Given the description of an element on the screen output the (x, y) to click on. 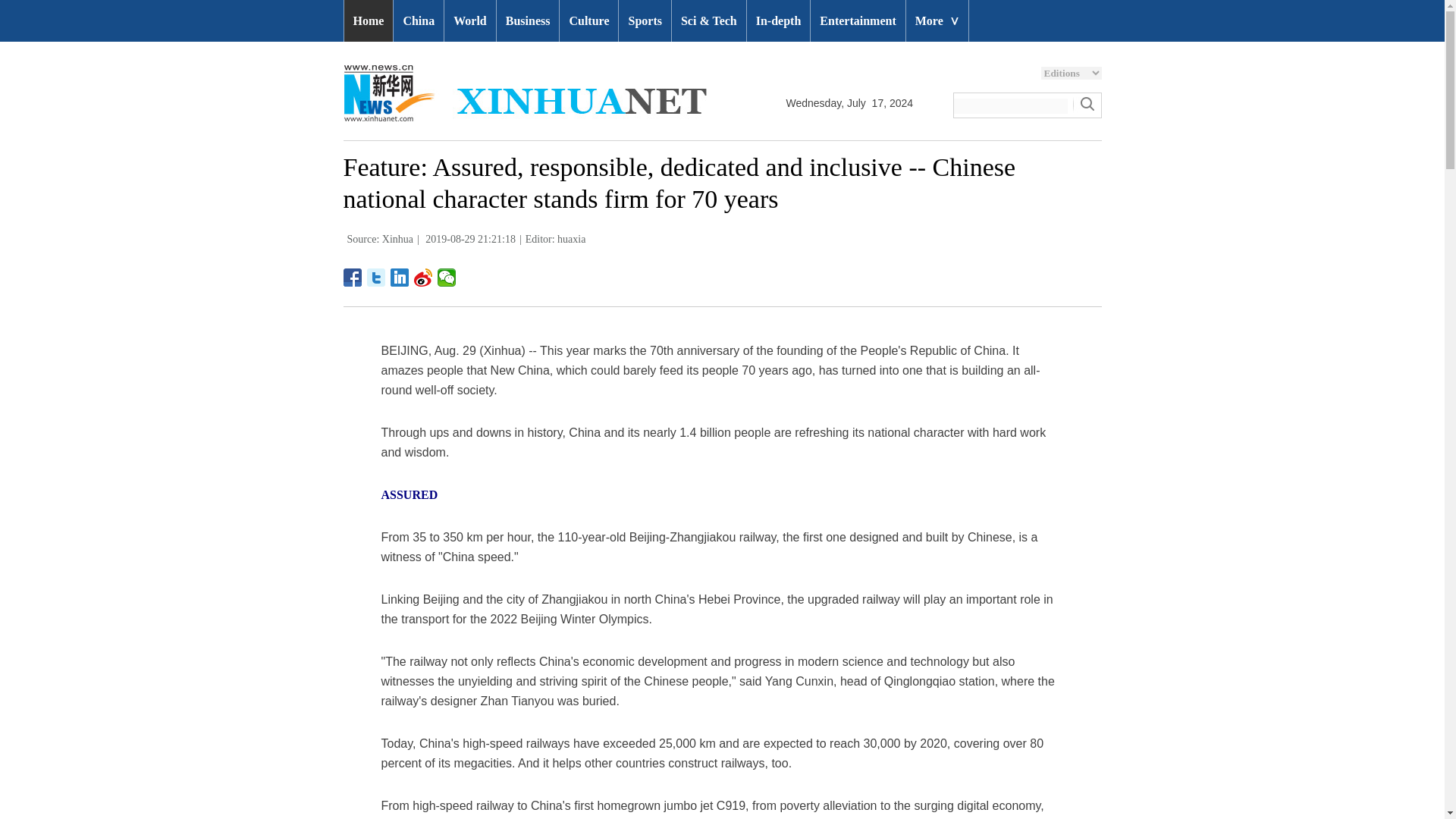
Business (527, 20)
World (470, 20)
China (418, 20)
Culture (588, 20)
In-depth (778, 20)
Home (368, 20)
Entertainment (857, 20)
Sports (643, 20)
